Given the description of an element on the screen output the (x, y) to click on. 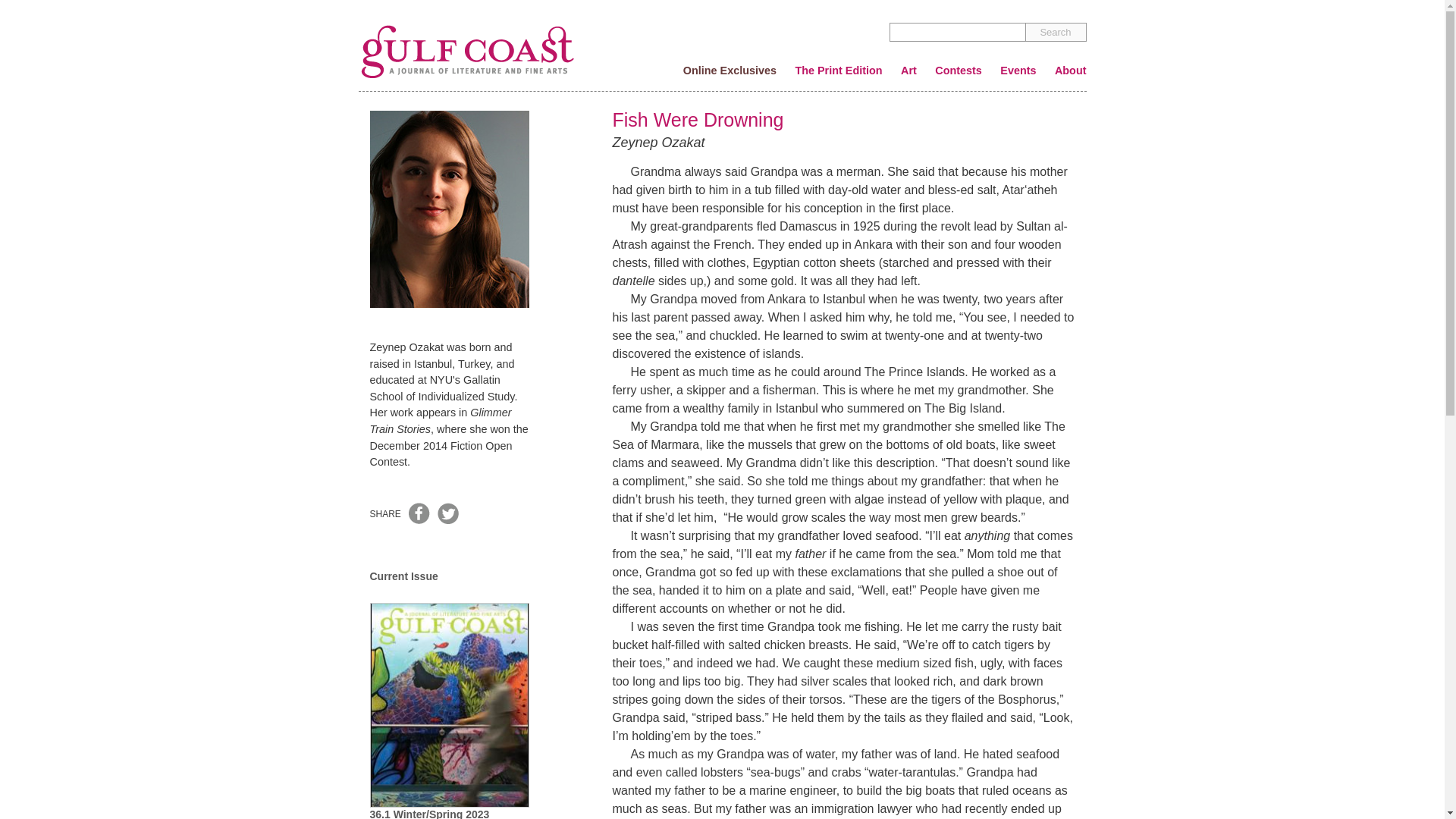
Search (1055, 31)
Search (1055, 31)
